Given the description of an element on the screen output the (x, y) to click on. 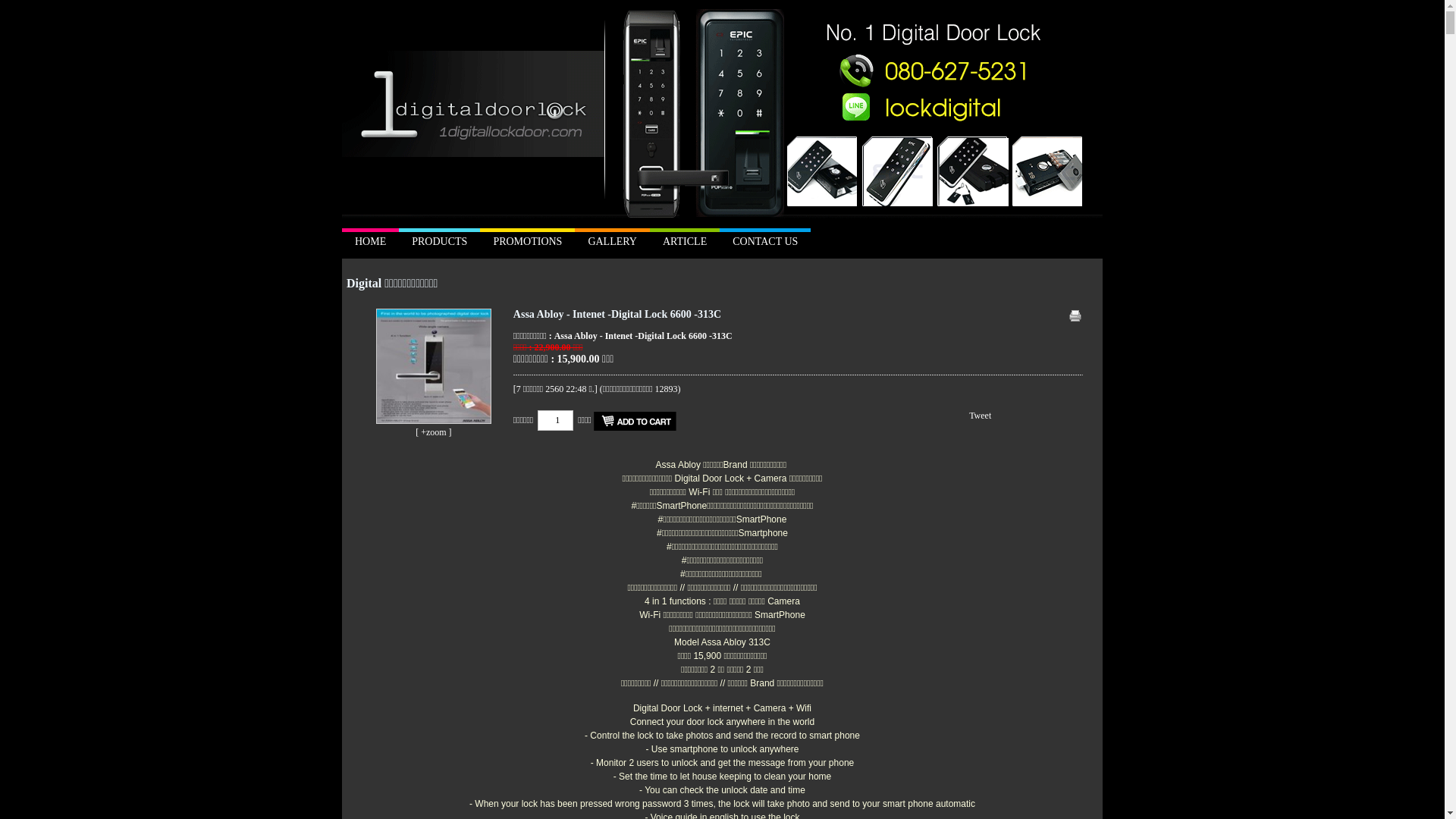
ARTICLE Element type: text (684, 243)
[ +zoom ] Element type: text (433, 431)
HOME Element type: text (370, 243)
PROMOTIONS Element type: text (527, 243)
GALLERY Element type: text (611, 243)
PRODUCTS Element type: text (439, 243)
CONTACT US Element type: text (764, 243)
Tweet Element type: text (980, 415)
